Given the description of an element on the screen output the (x, y) to click on. 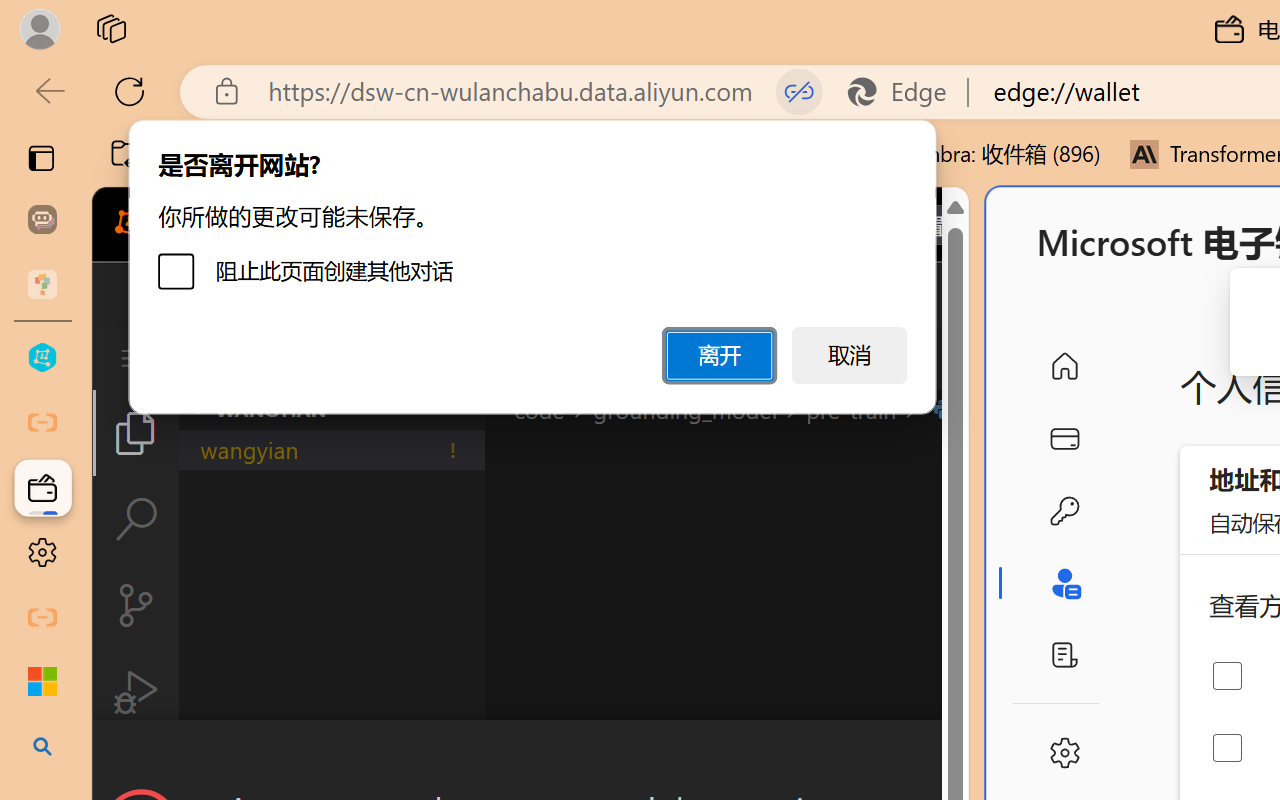
Class: actions-container (529, 756)
Microsoft security help and learning (42, 681)
Close Dialog (959, 756)
Run and Debug (Ctrl+Shift+D) (135, 692)
